Given the description of an element on the screen output the (x, y) to click on. 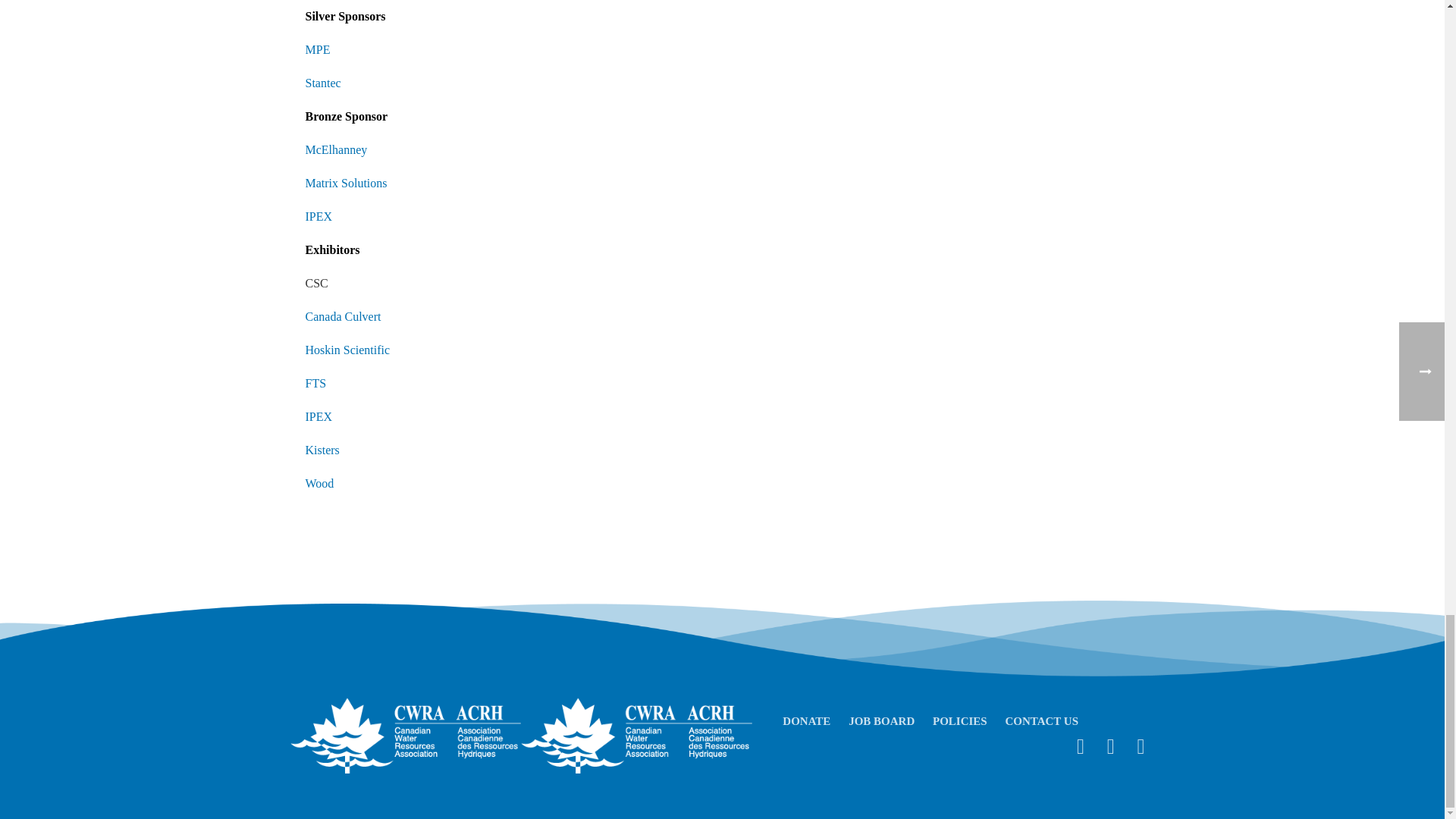
Canadian Water Resources Association (405, 735)
Canadian Water Resources Association (636, 735)
